Given the description of an element on the screen output the (x, y) to click on. 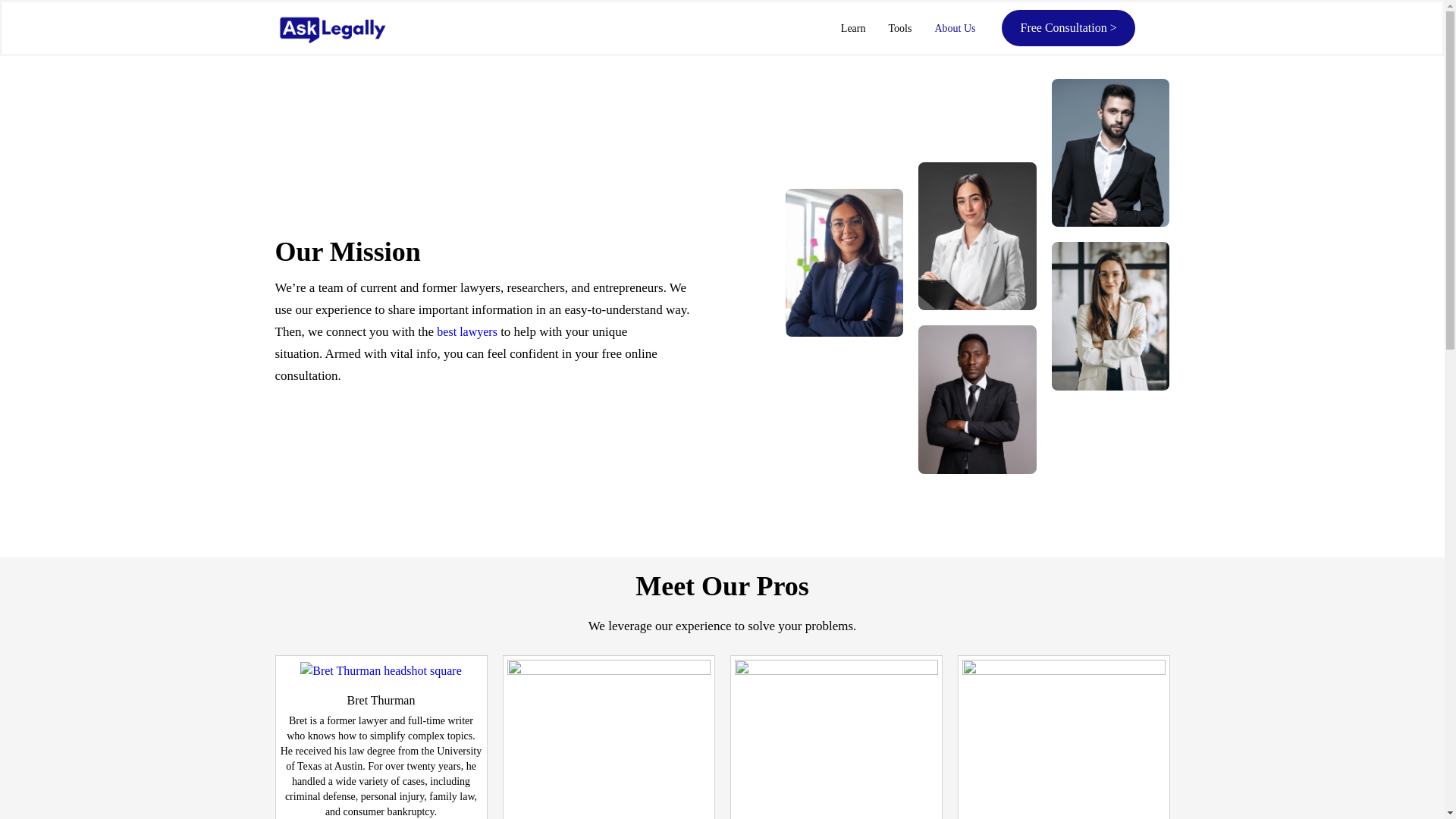
Tools (899, 27)
Learn (853, 27)
About Us (955, 27)
best lawyers (466, 331)
Bret Thurman (380, 699)
